Given the description of an element on the screen output the (x, y) to click on. 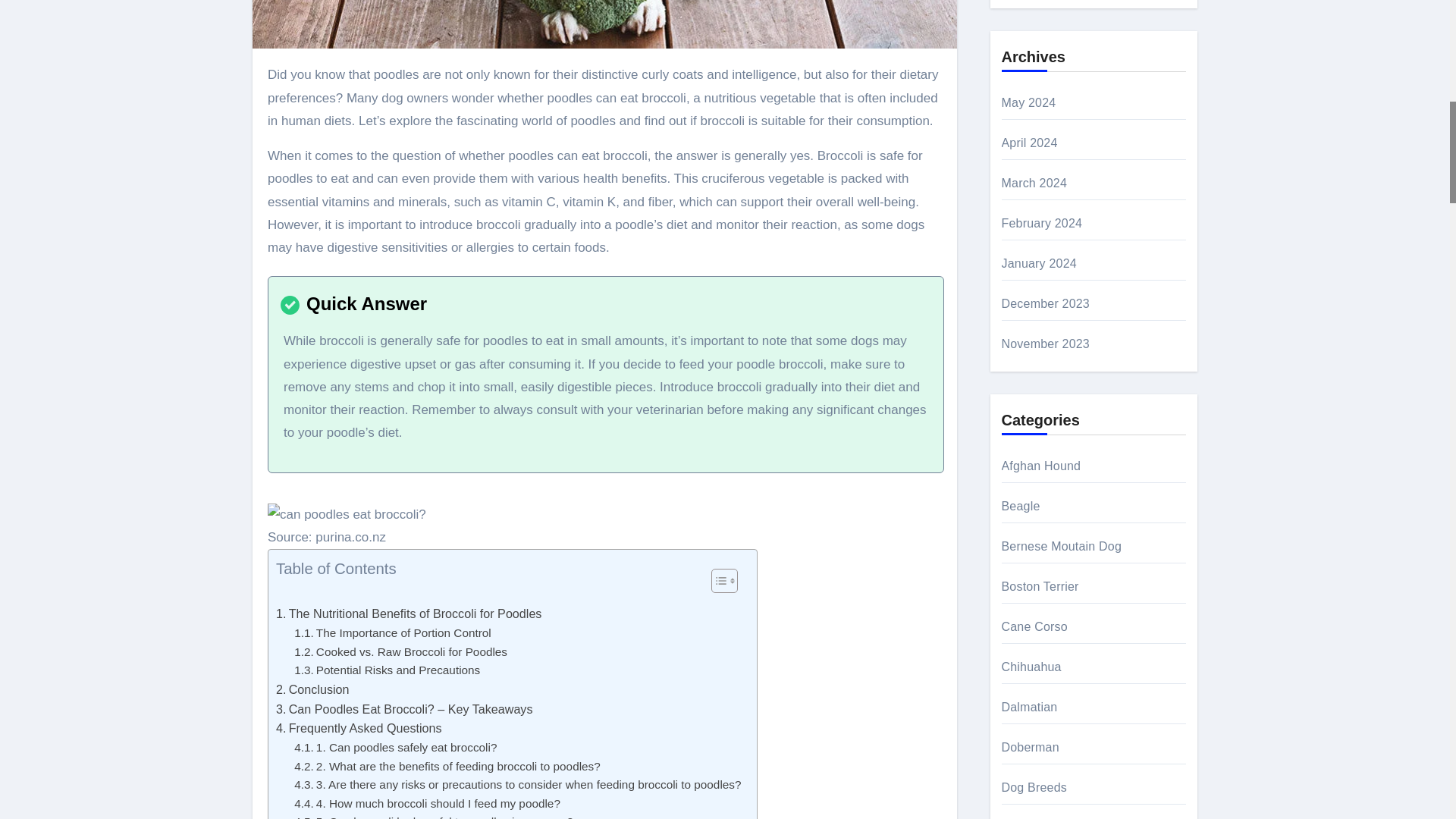
1. Can poodles safely eat broccoli? (395, 747)
Frequently Asked Questions (359, 728)
2. What are the benefits of feeding broccoli to poodles? (446, 766)
Potential Risks and Precautions (387, 670)
2. What are the benefits of feeding broccoli to poodles? (446, 766)
Cooked vs. Raw Broccoli for Poodles (400, 651)
The Nutritional Benefits of Broccoli for Poodles (408, 614)
5. Can broccoli be harmful to poodles in any way? (433, 816)
1. Can poodles safely eat broccoli? (395, 747)
4. How much broccoli should I feed my poodle? (427, 804)
Cooked vs. Raw Broccoli for Poodles (400, 651)
Conclusion (312, 690)
5. Can broccoli be harmful to poodles in any way? (433, 816)
